Given the description of an element on the screen output the (x, y) to click on. 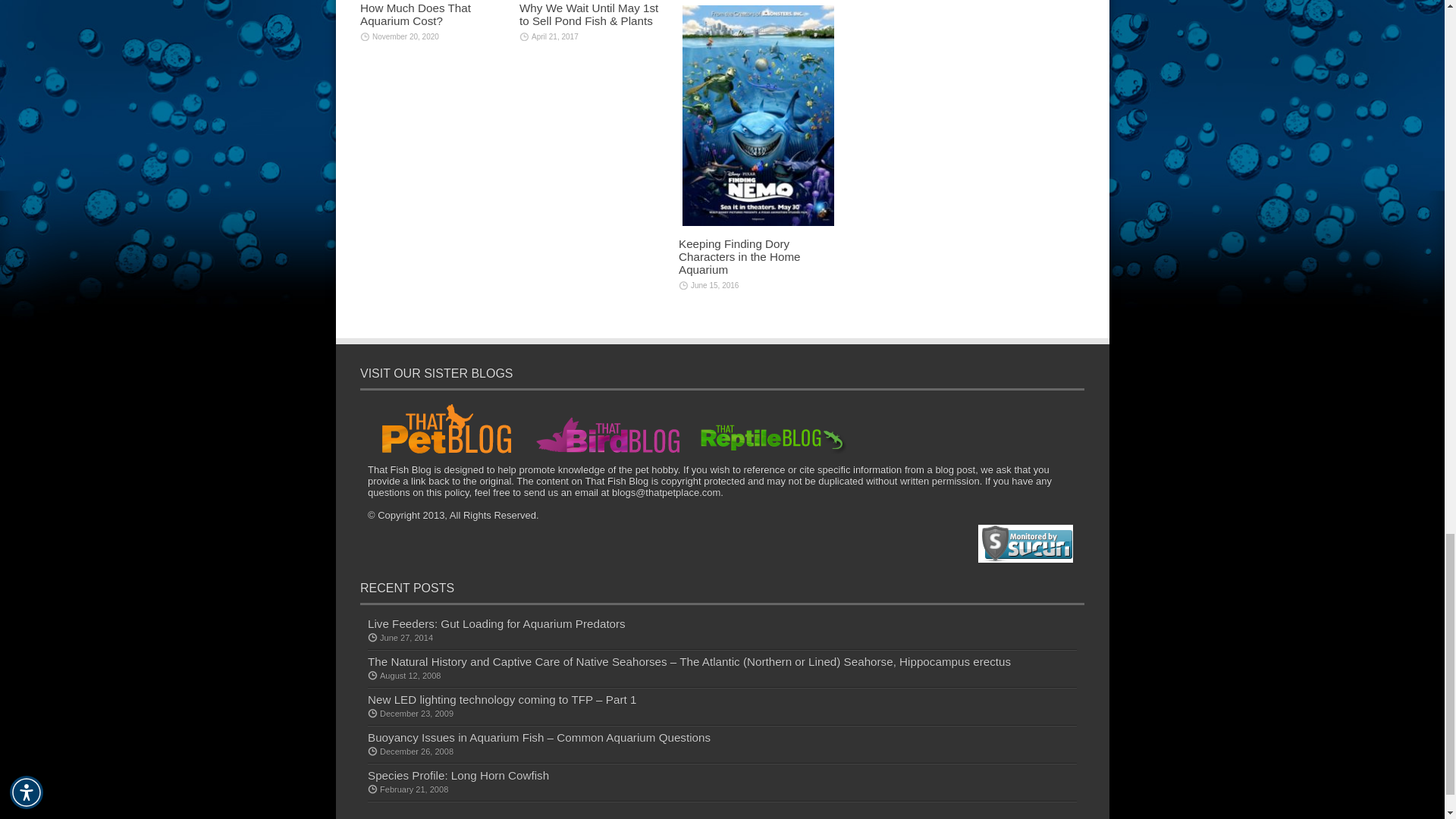
Permalink to How Much Does That Aquarium Cost? (414, 14)
